Given the description of an element on the screen output the (x, y) to click on. 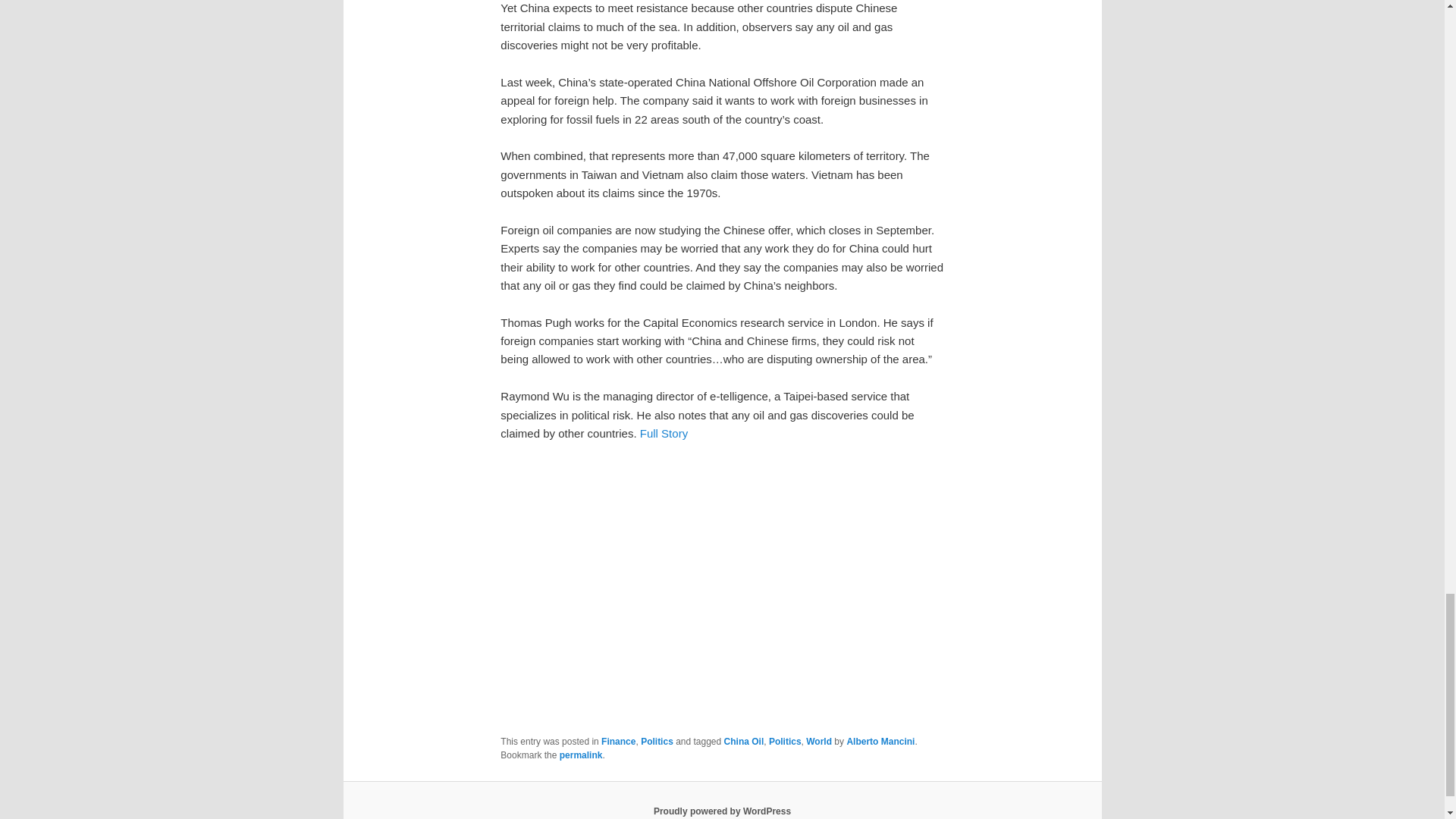
Finance (617, 741)
Politics (785, 741)
China Oil (743, 741)
Full Story (663, 432)
World (818, 741)
Alberto Mancini (879, 741)
Politics (656, 741)
Semantic Personal Publishing Platform (721, 810)
The South China Sea dispute explained (721, 586)
permalink (580, 755)
Proudly powered by WordPress (721, 810)
